Given the description of an element on the screen output the (x, y) to click on. 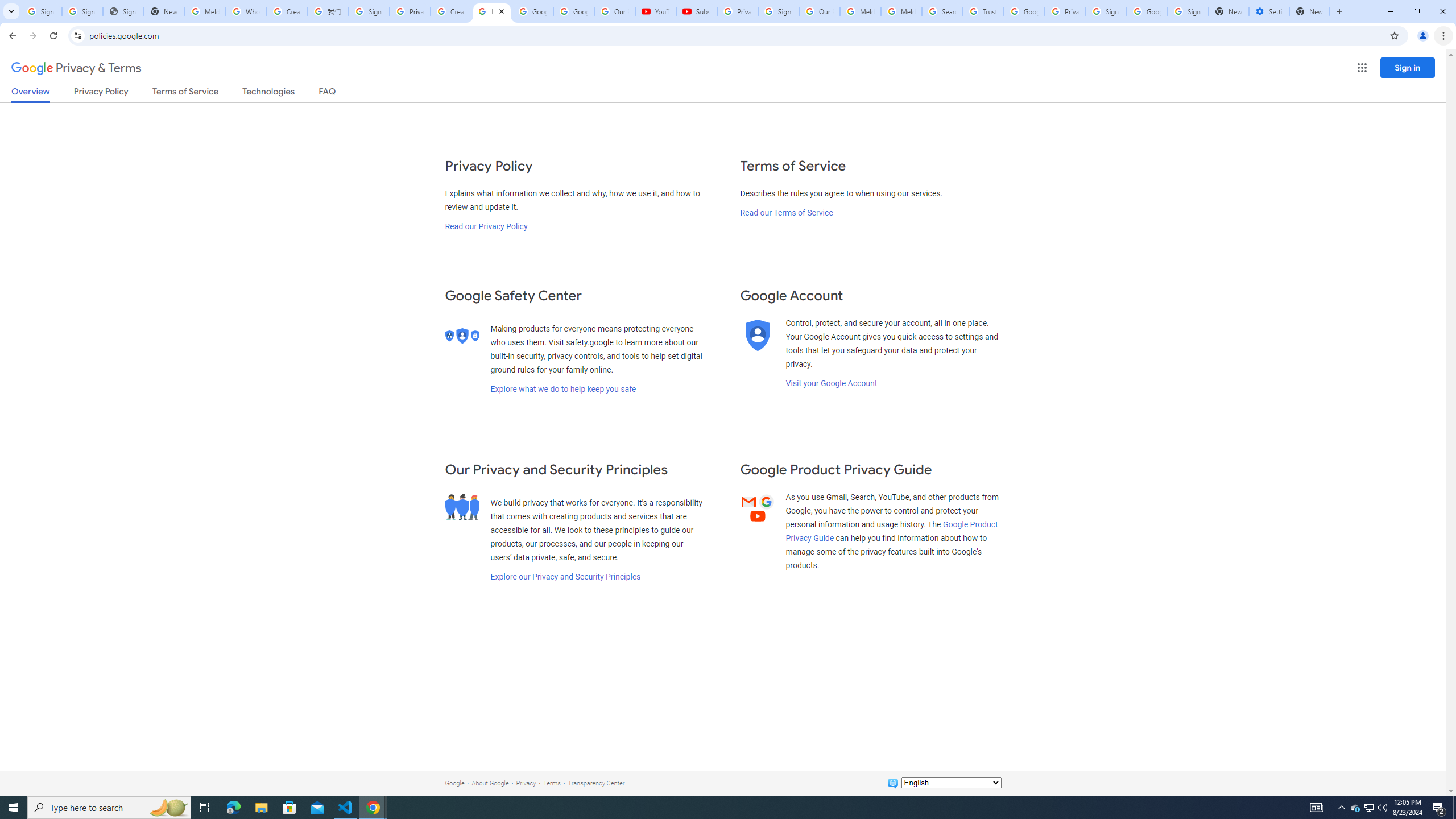
Sign in - Google Accounts (81, 11)
Google Product Privacy Guide (891, 530)
Explore our Privacy and Security Principles (565, 576)
Who is my administrator? - Google Account Help (246, 11)
Explore what we do to help keep you safe (563, 388)
